Given the description of an element on the screen output the (x, y) to click on. 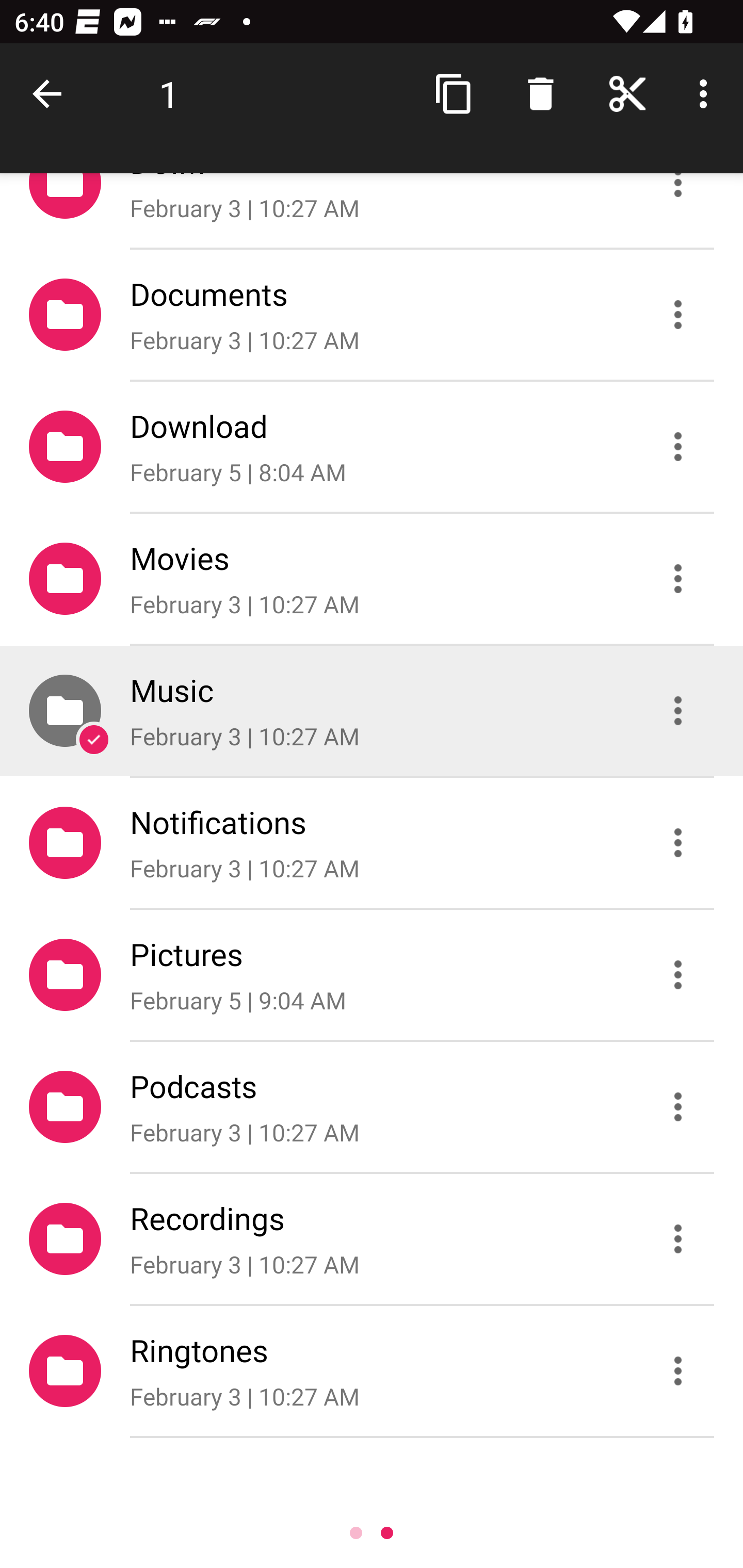
1 (169, 93)
Done (50, 93)
Copy (453, 93)
Delete (540, 93)
Cut (626, 93)
More options (706, 93)
Documents February 3 | 10:27 AM (371, 314)
Download February 5 | 8:04 AM (371, 446)
Movies February 3 | 10:27 AM (371, 579)
Music February 3 | 10:27 AM (371, 711)
Notifications February 3 | 10:27 AM (371, 842)
Pictures February 5 | 9:04 AM (371, 974)
Podcasts February 3 | 10:27 AM (371, 1106)
Recordings February 3 | 10:27 AM (371, 1239)
Ringtones February 3 | 10:27 AM (371, 1371)
